Given the description of an element on the screen output the (x, y) to click on. 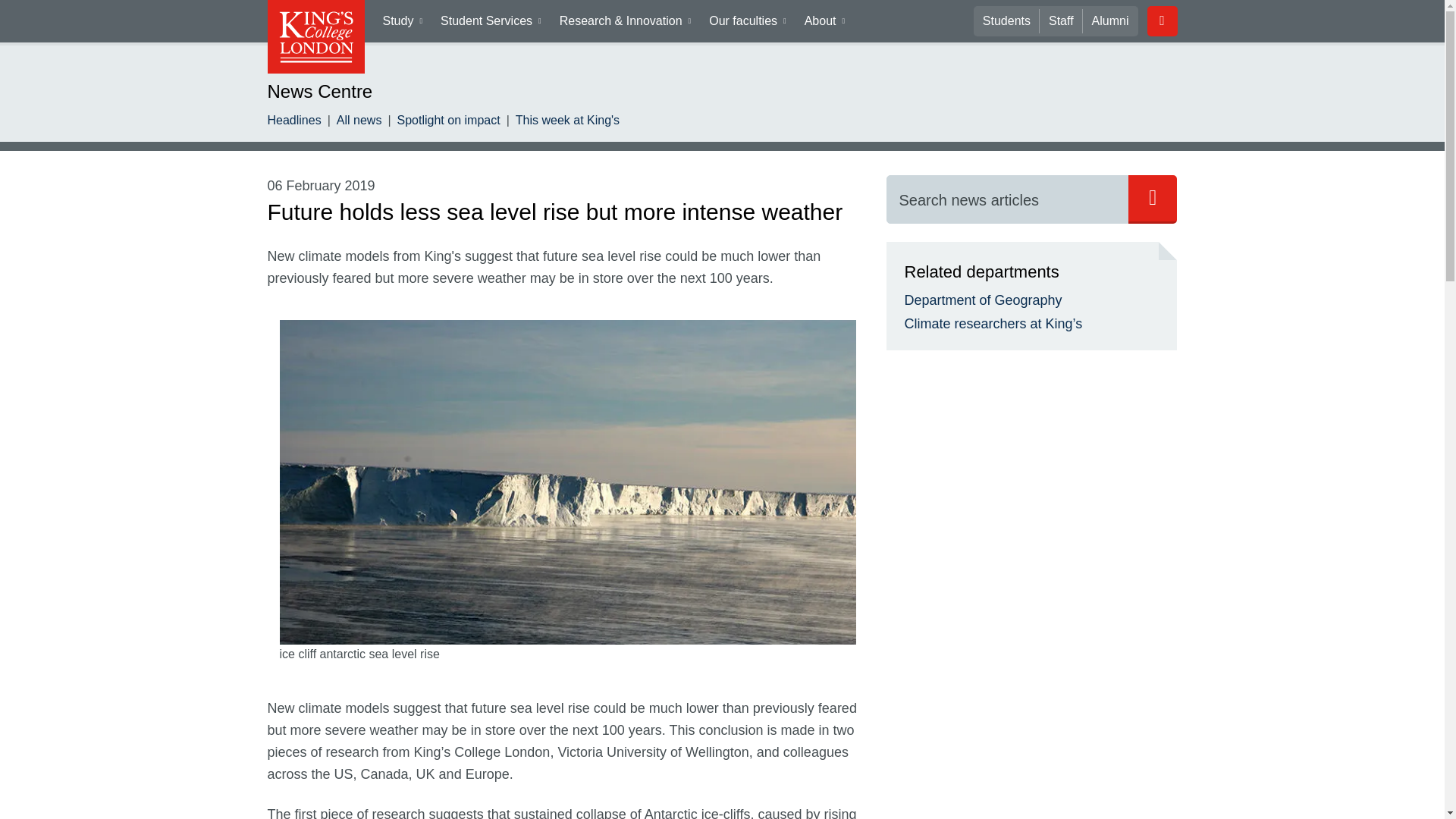
Search (1006, 199)
